Given the description of an element on the screen output the (x, y) to click on. 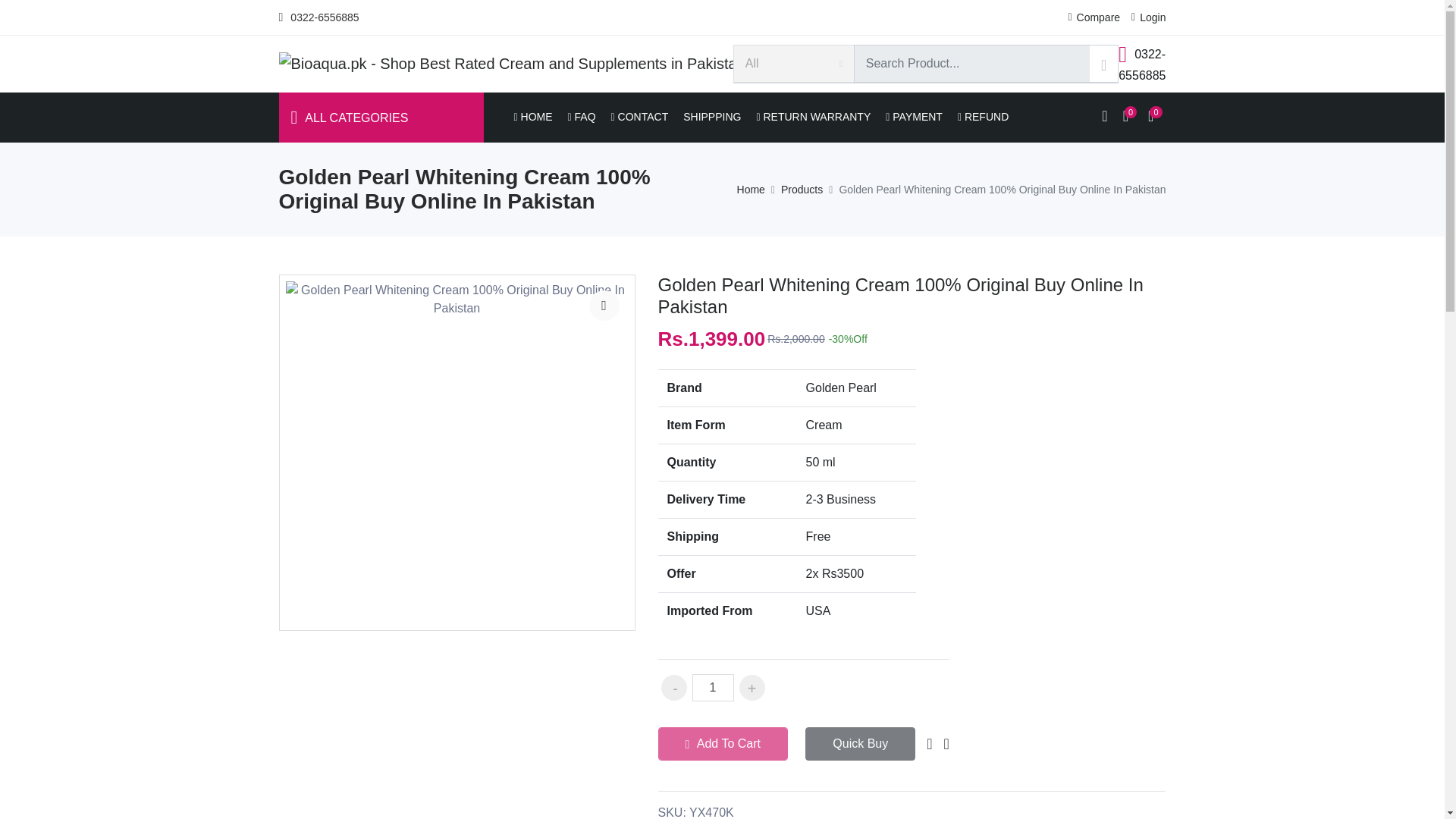
Compare (1093, 16)
ALL CATEGORIES (381, 117)
CONTACT (640, 116)
PAYMENT (913, 116)
Login (1148, 16)
- (674, 687)
RETURN WARRANTY (812, 116)
Zoom (603, 305)
SHIPPPING (711, 116)
Qty (712, 687)
